Given the description of an element on the screen output the (x, y) to click on. 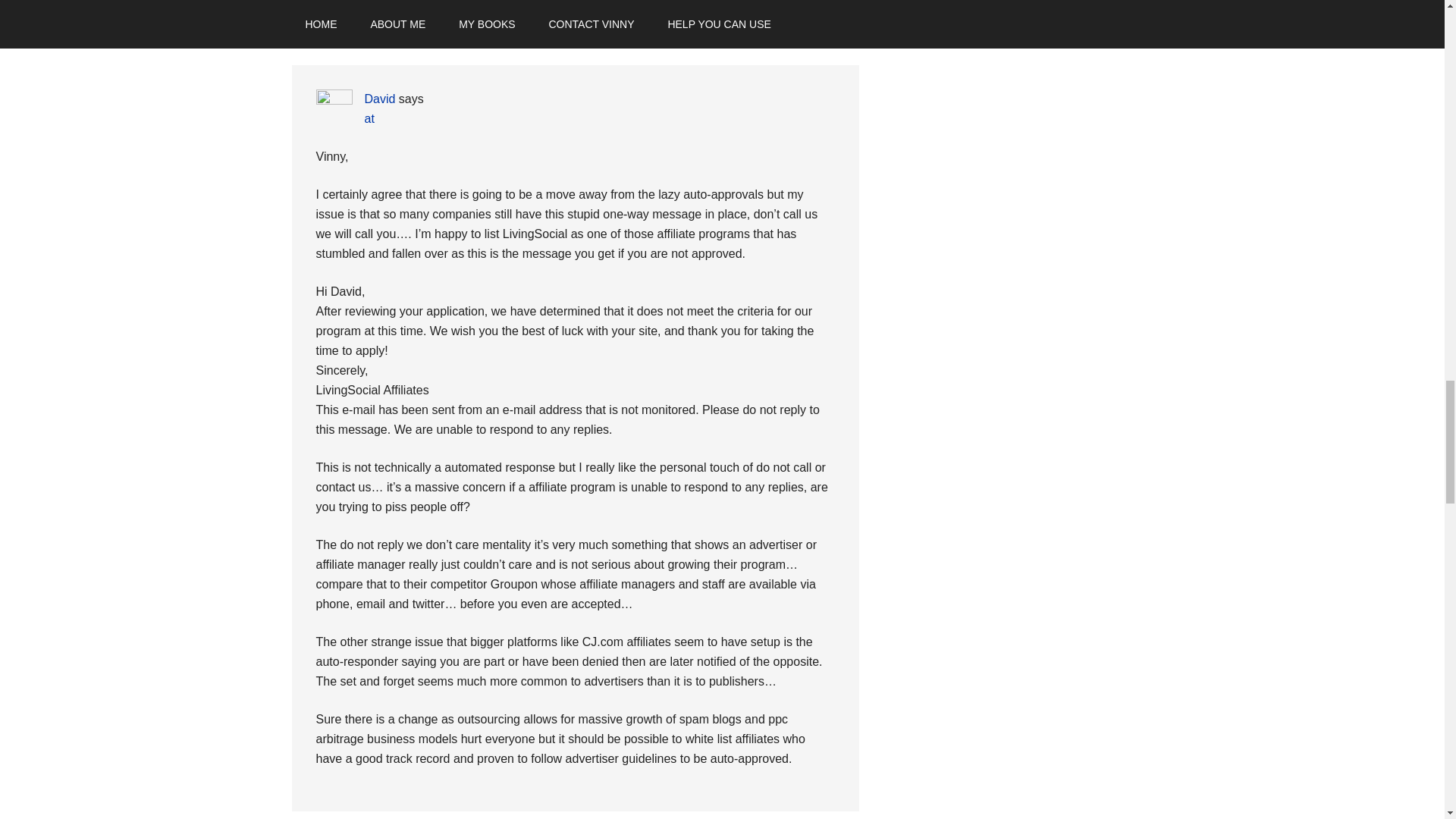
at (369, 118)
David (379, 98)
